Given the description of an element on the screen output the (x, y) to click on. 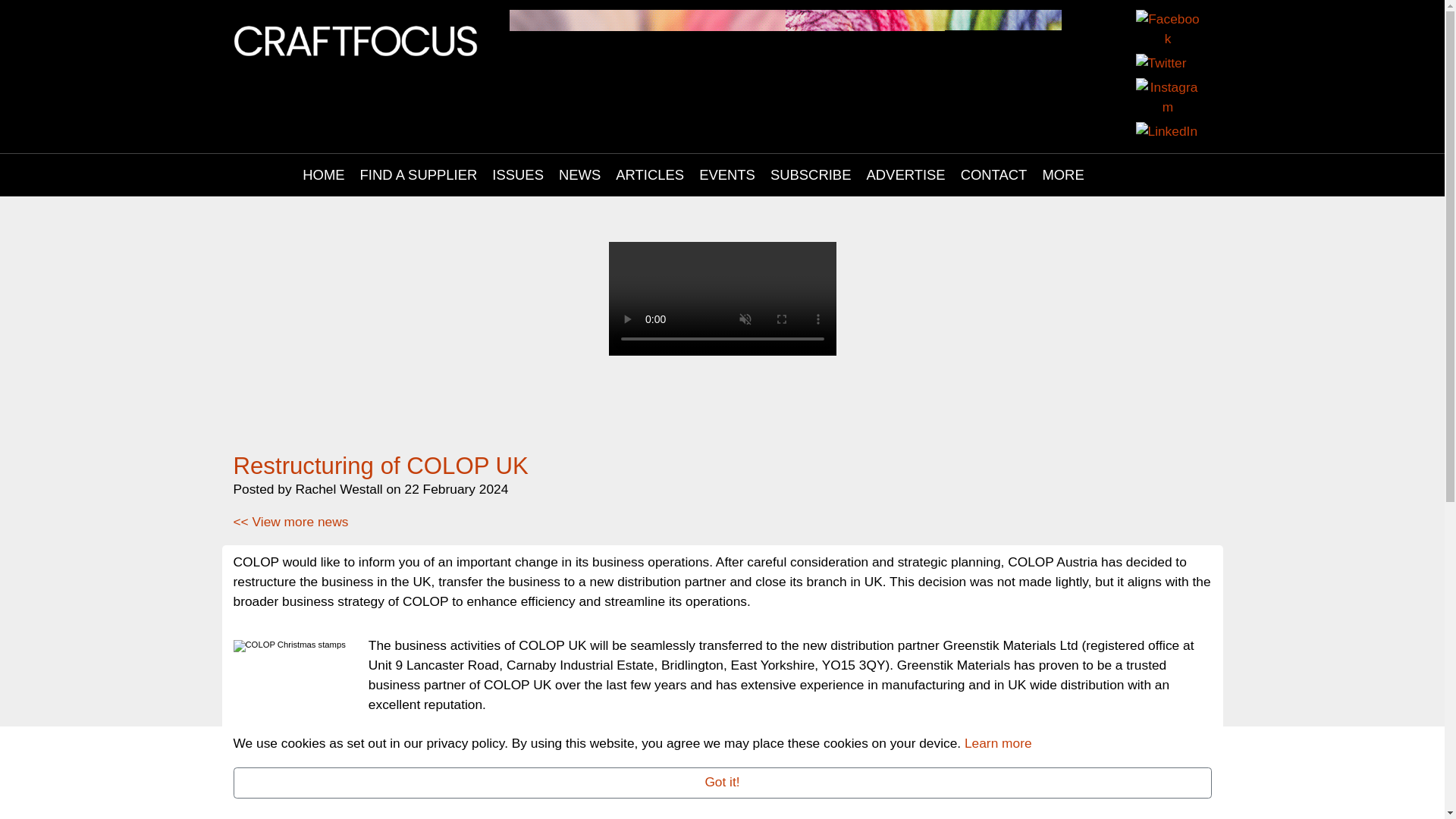
Got it! (721, 782)
HOME (322, 117)
View more news (290, 464)
Follow us on Instagram (1149, 58)
Craft Focus (355, 39)
Learn more (997, 743)
Subscription is FREE of charge to all UK based traders (721, 294)
FIND A SUPPLIER (418, 117)
Find us on Facebook (1149, 25)
Autumn Fair (785, 46)
search (1120, 117)
Follow us on LinkedIn (1181, 58)
Follow us on Twitter (1181, 25)
